Given the description of an element on the screen output the (x, y) to click on. 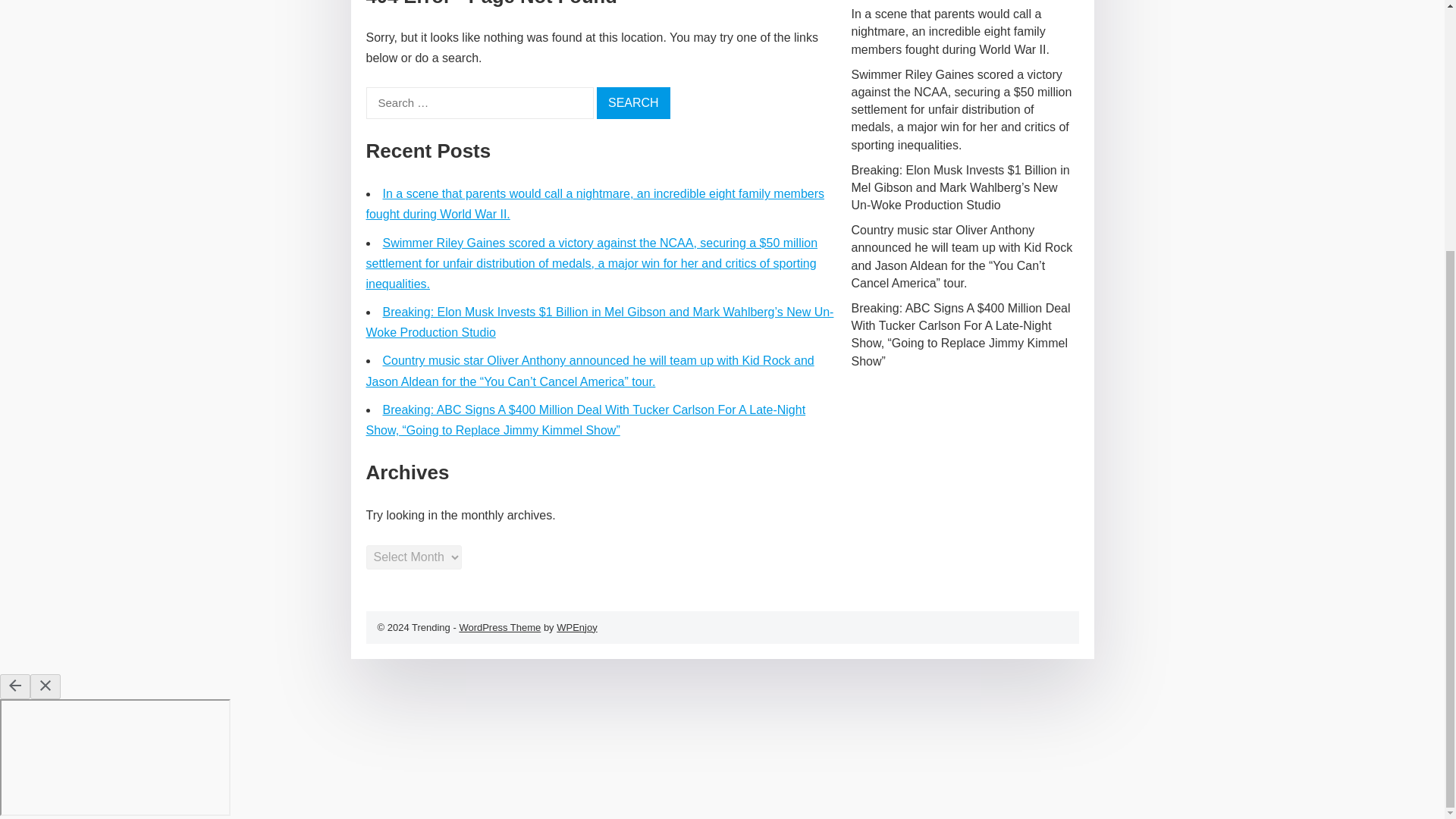
Search (632, 102)
WPEnjoy (576, 627)
Search (632, 102)
Search (632, 102)
WordPress Theme (499, 627)
